Given the description of an element on the screen output the (x, y) to click on. 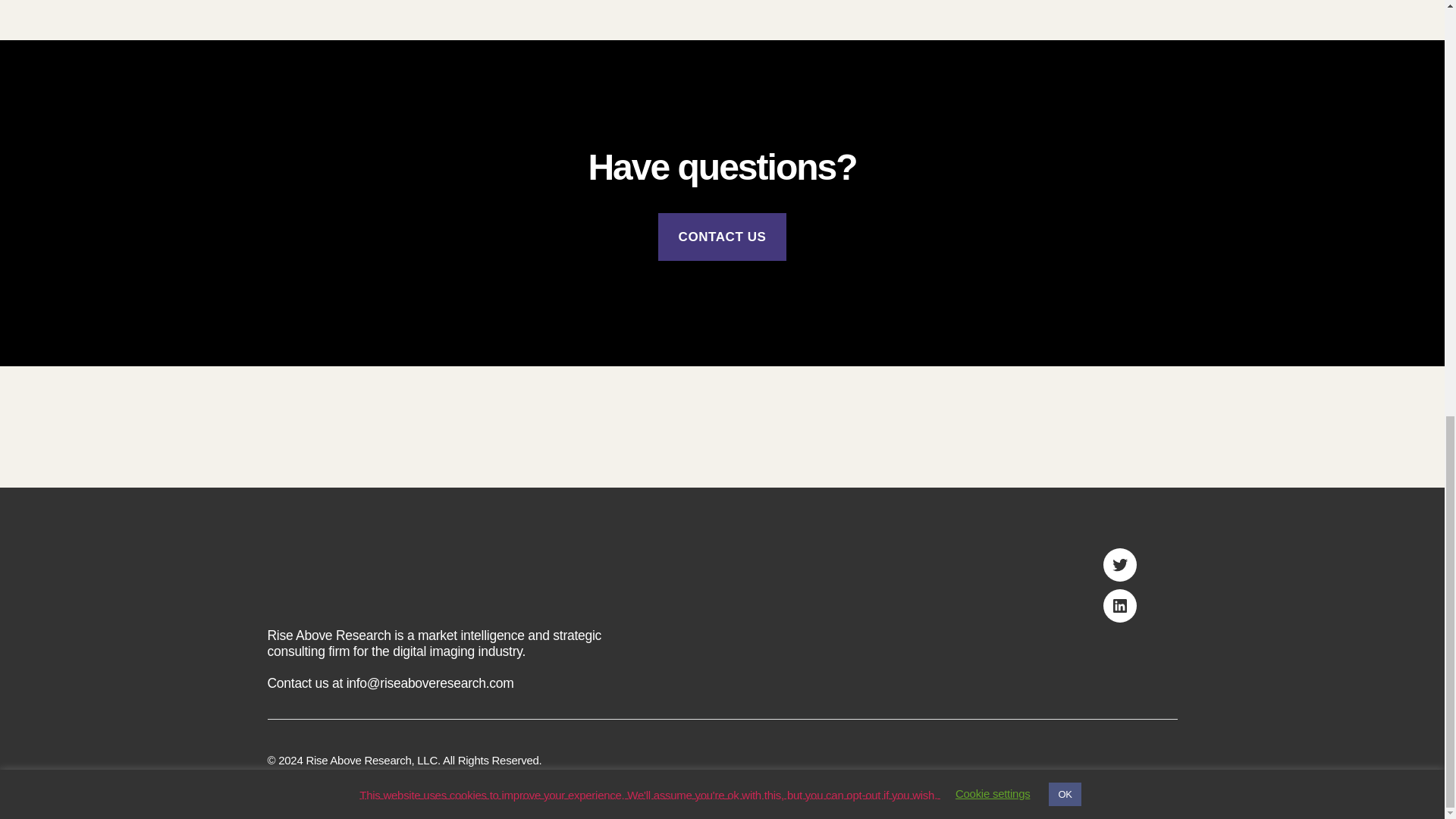
Privacy Policy (300, 776)
CONTACT US (722, 236)
twitter (1118, 564)
Rise Above Research (357, 759)
Linkedin (1118, 605)
